Given the description of an element on the screen output the (x, y) to click on. 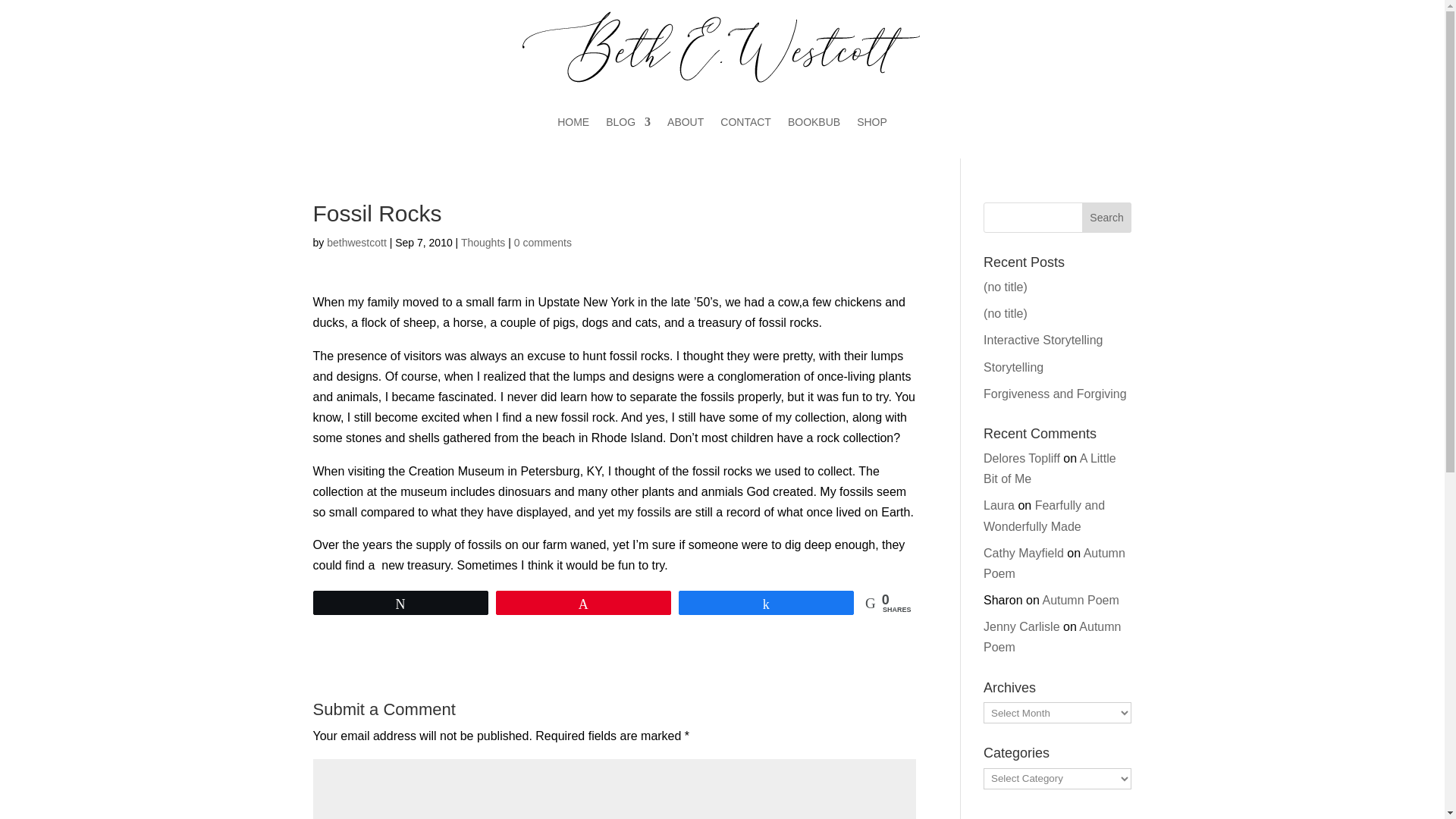
Search (1106, 217)
Autumn Poem (1054, 563)
Interactive Storytelling (1043, 339)
A Little Bit of Me (1050, 468)
Autumn Poem (1052, 636)
Forgiveness and Forgiving (1055, 393)
Storytelling (1013, 367)
Cathy Mayfield (1024, 553)
0 comments (542, 242)
Posts by bethwestcott (356, 242)
BOOKBUB (813, 121)
Fearfully and Wonderfully Made (1044, 515)
Delores Topliff (1021, 458)
bethwestcott (356, 242)
Autumn Poem (1080, 599)
